Given the description of an element on the screen output the (x, y) to click on. 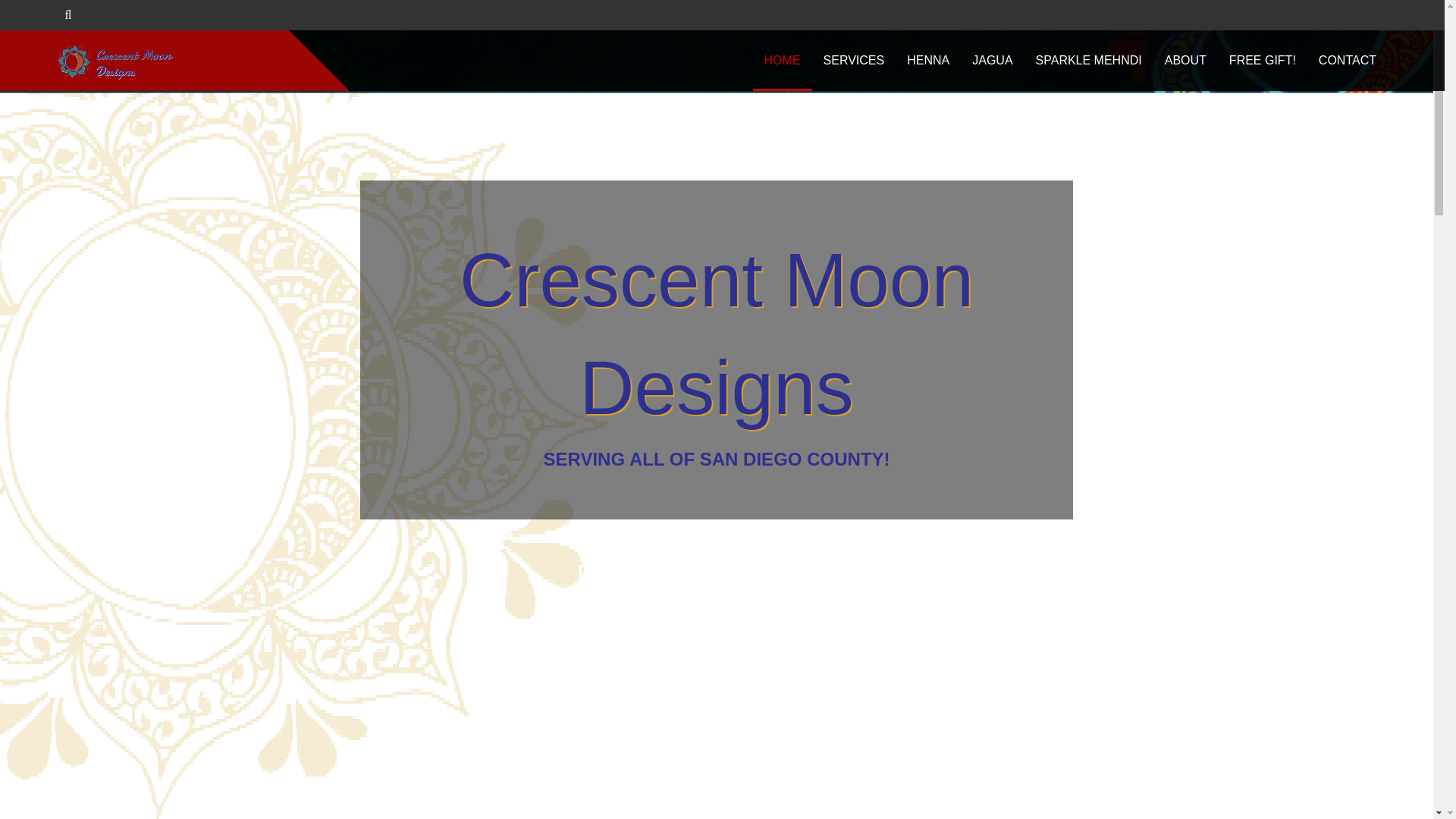
SPARKLE MEHNDI (1089, 60)
ABOUT (1185, 60)
FREE GIFT! (1262, 60)
HENNA (927, 60)
CONTACT (1347, 60)
HOME (782, 60)
SERVICES (854, 60)
JAGUA (991, 60)
search (45, 15)
